Given the description of an element on the screen output the (x, y) to click on. 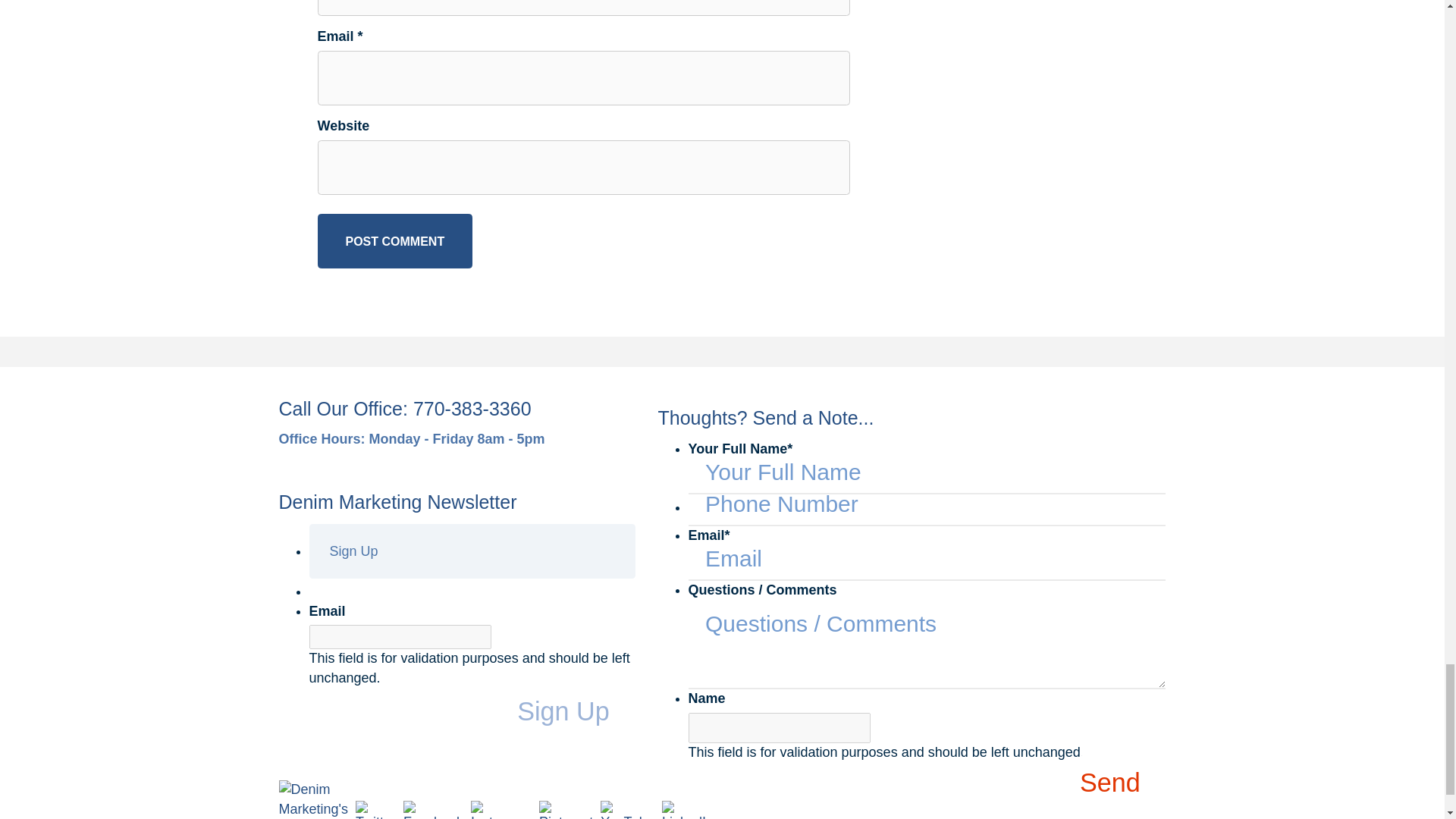
770-383-3360 (472, 408)
Sign Up (575, 711)
Post Comment (394, 240)
Post Comment (394, 240)
